Given the description of an element on the screen output the (x, y) to click on. 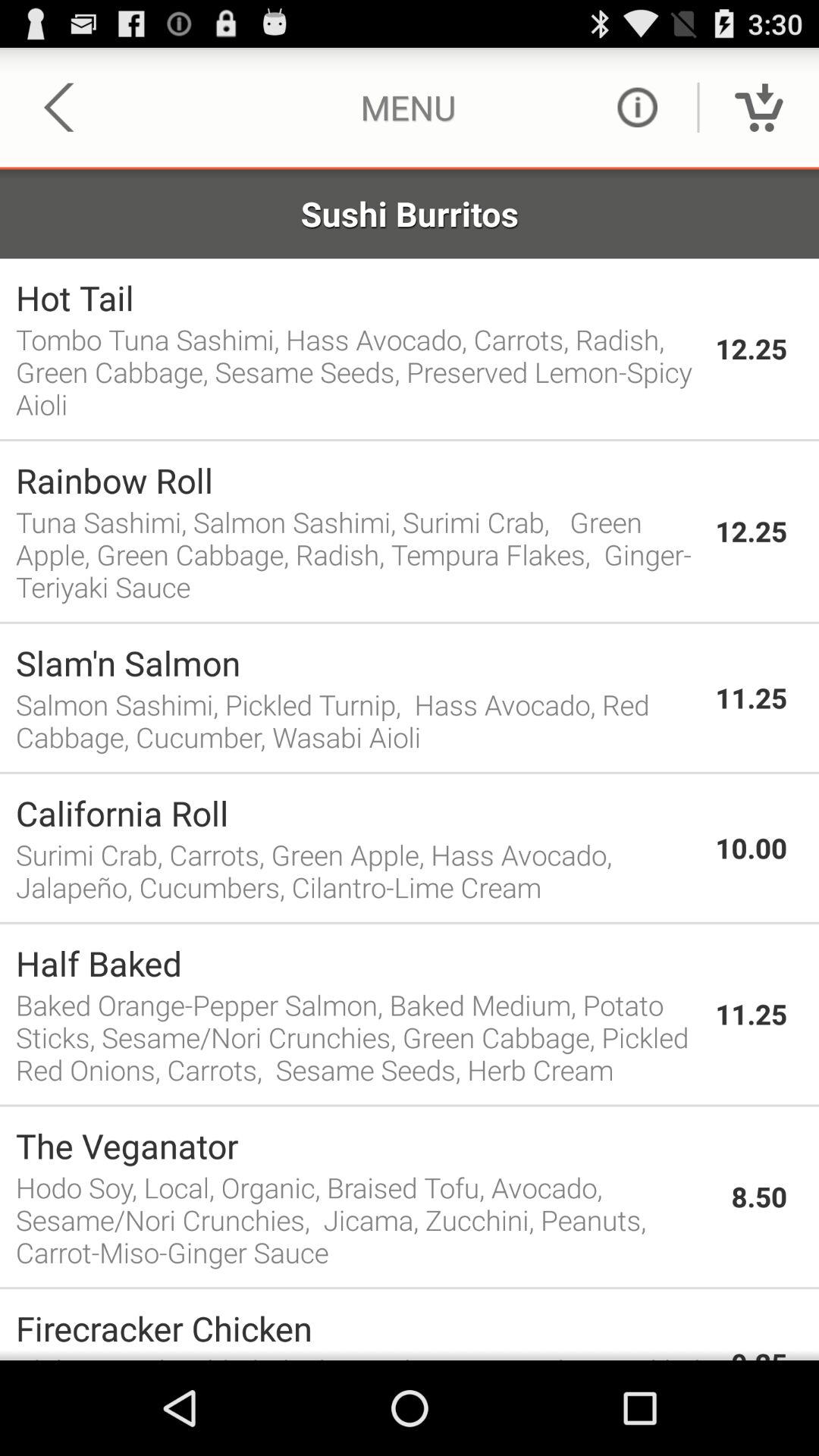
swipe to the rainbow roll icon (357, 480)
